Given the description of an element on the screen output the (x, y) to click on. 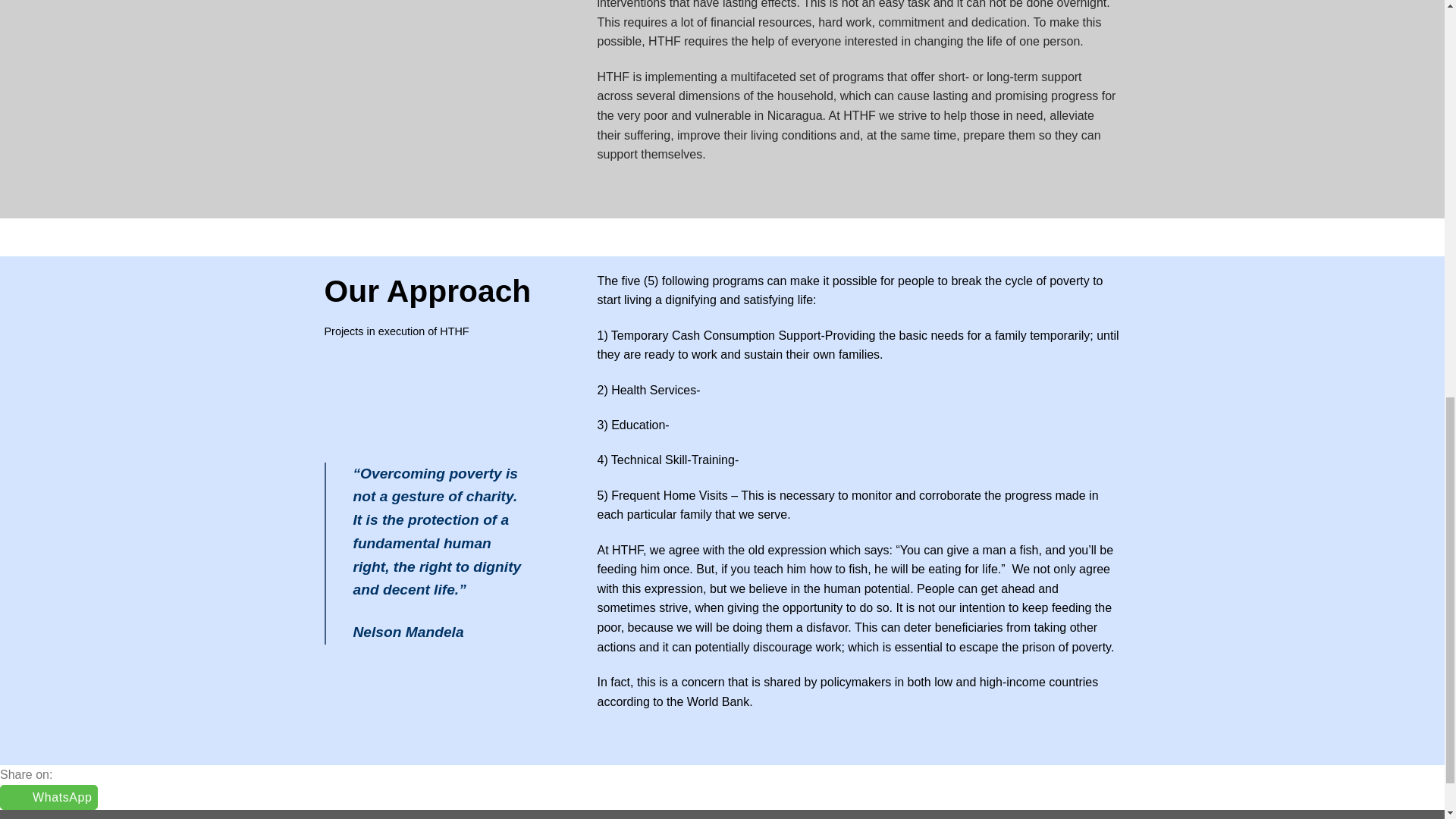
WhatsApp (48, 796)
